Given the description of an element on the screen output the (x, y) to click on. 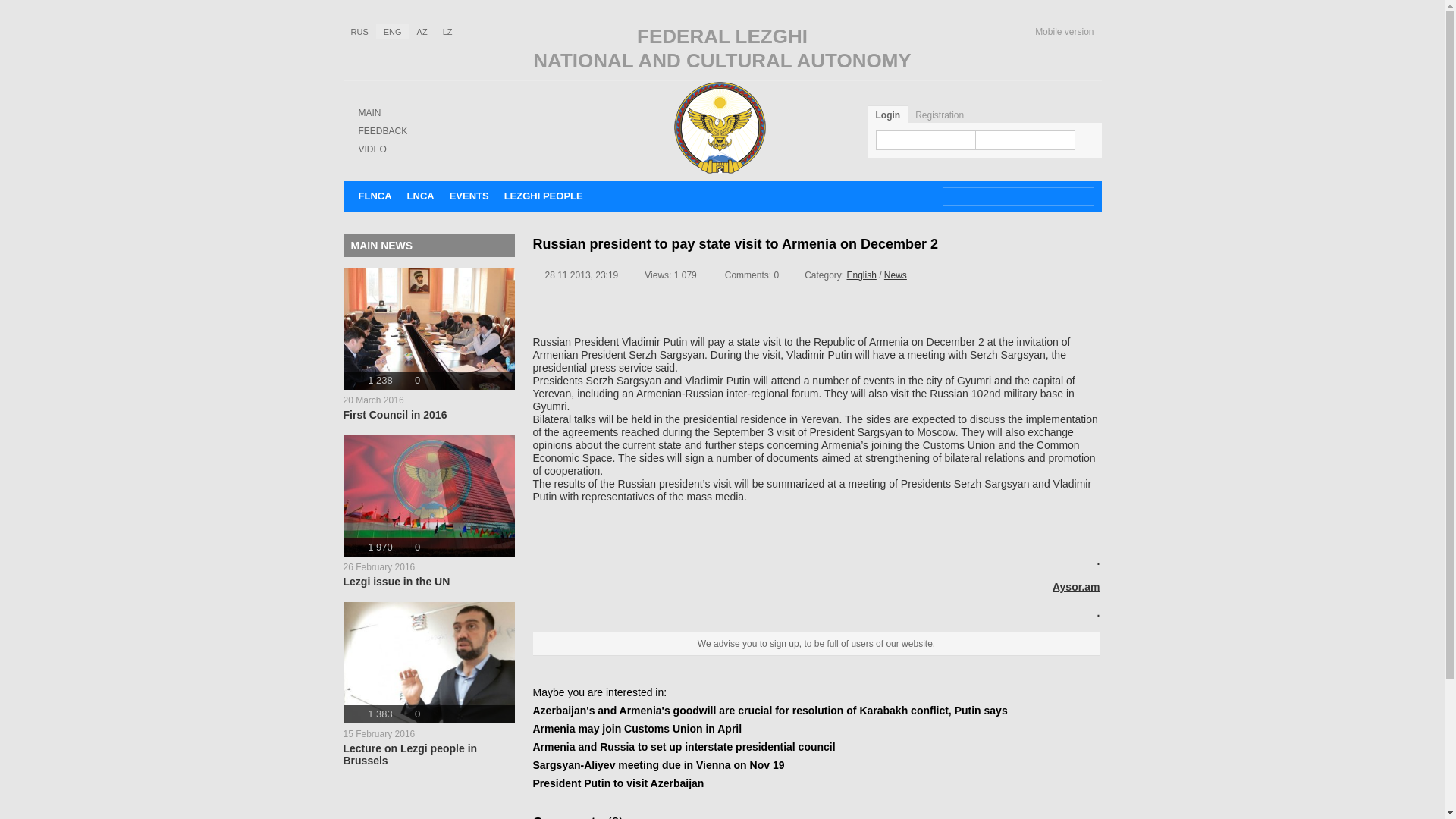
LZ (447, 31)
FLNCA (374, 195)
English (427, 683)
Armenia may join Customs Union in April (860, 275)
RUS (636, 728)
LEZGHI PEOPLE (358, 31)
Armenia and Russia to set up interstate presidential council (427, 344)
Registration (543, 195)
VIDEO (683, 746)
Sargsyan-Aliyev meeting due in Vienna on Nov 19 (939, 114)
MAIN (371, 149)
sign up (658, 765)
EVENTS (369, 112)
